Given the description of an element on the screen output the (x, y) to click on. 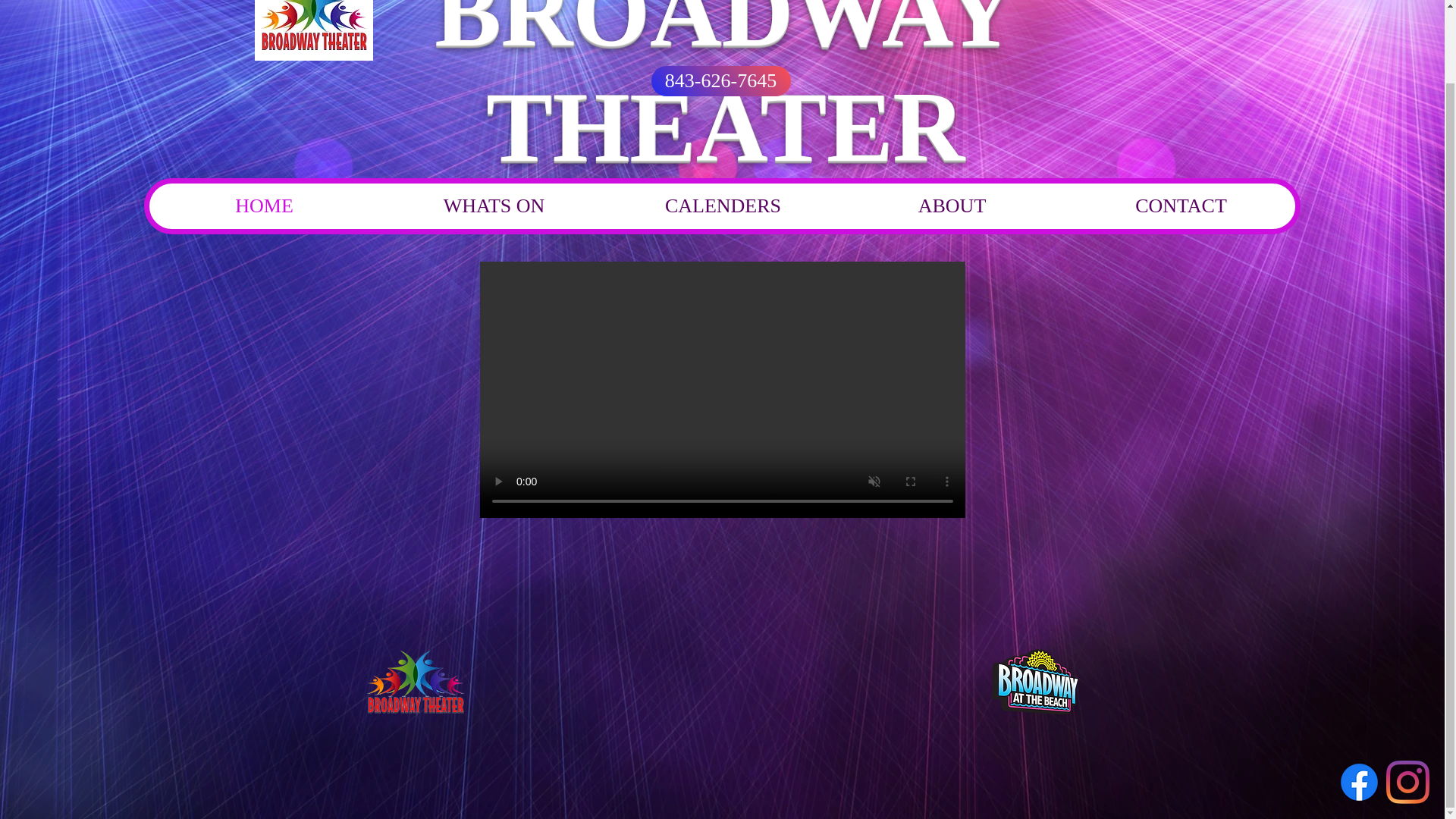
843-626-7645 (720, 81)
CONTACT (1180, 206)
CALENDERS (722, 206)
BROADWAY THEATER (724, 90)
WHATS ON (493, 206)
HOME (263, 206)
ABOUT (951, 206)
